Given the description of an element on the screen output the (x, y) to click on. 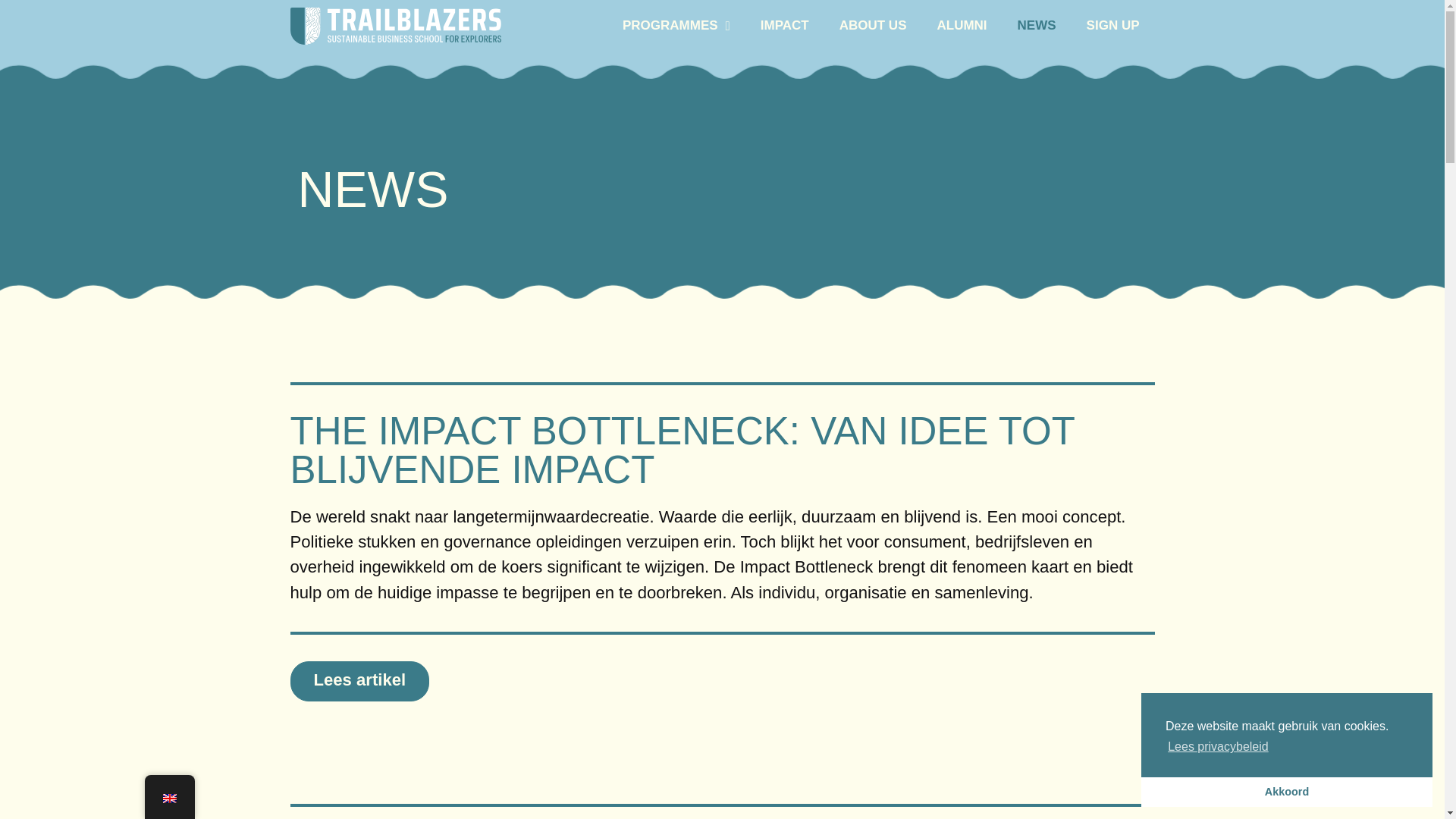
SIGN UP (1112, 25)
THE IMPACT BOTTLENECK: VAN IDEE TOT BLIJVENDE IMPACT (681, 450)
English (168, 798)
PROGRAMMES (676, 25)
IMPACT (784, 25)
ALUMNI (961, 25)
NEWS (1037, 25)
ABOUT US (872, 25)
